Given the description of an element on the screen output the (x, y) to click on. 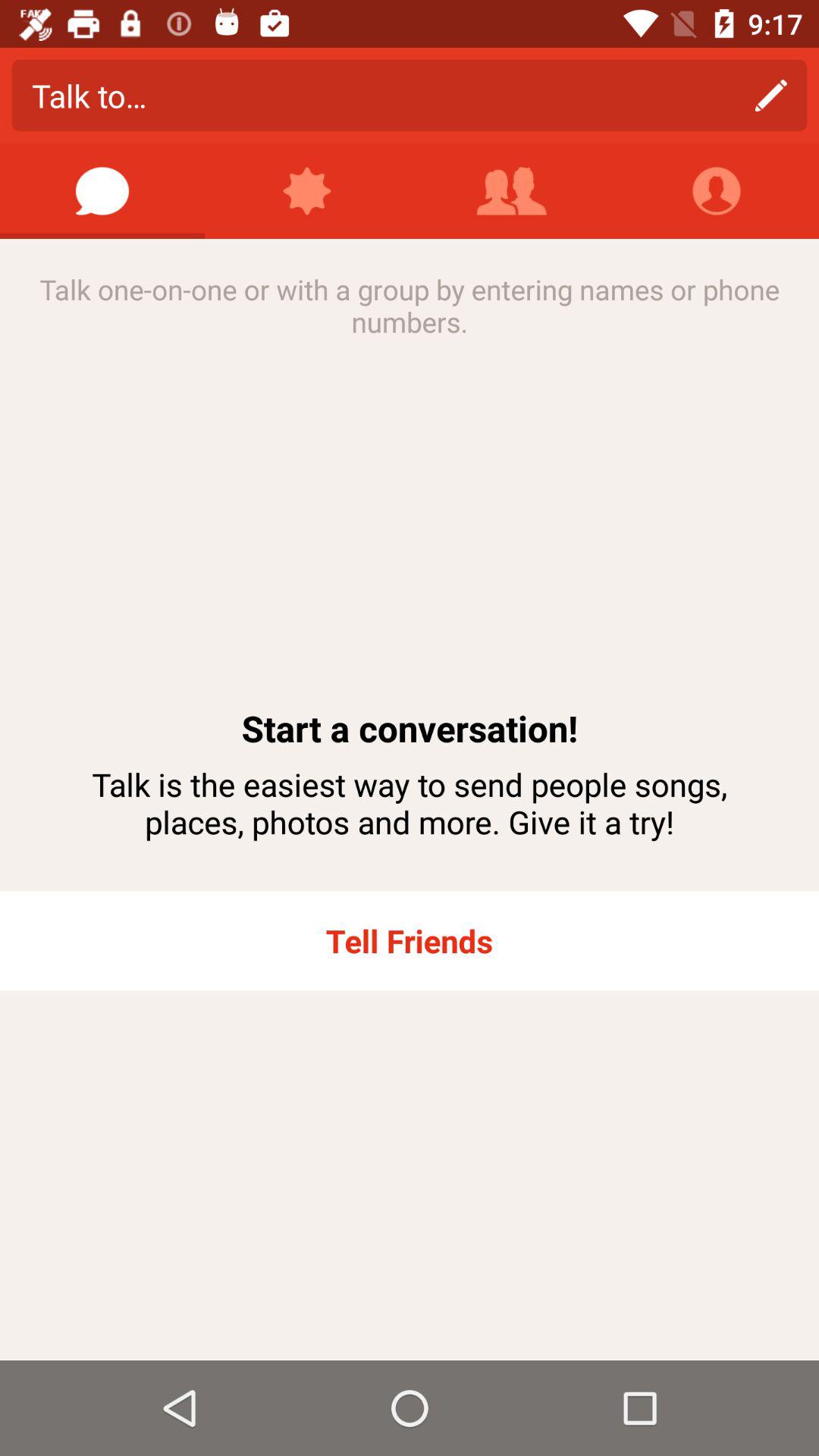
choose the app above the talk one on item (716, 190)
